Given the description of an element on the screen output the (x, y) to click on. 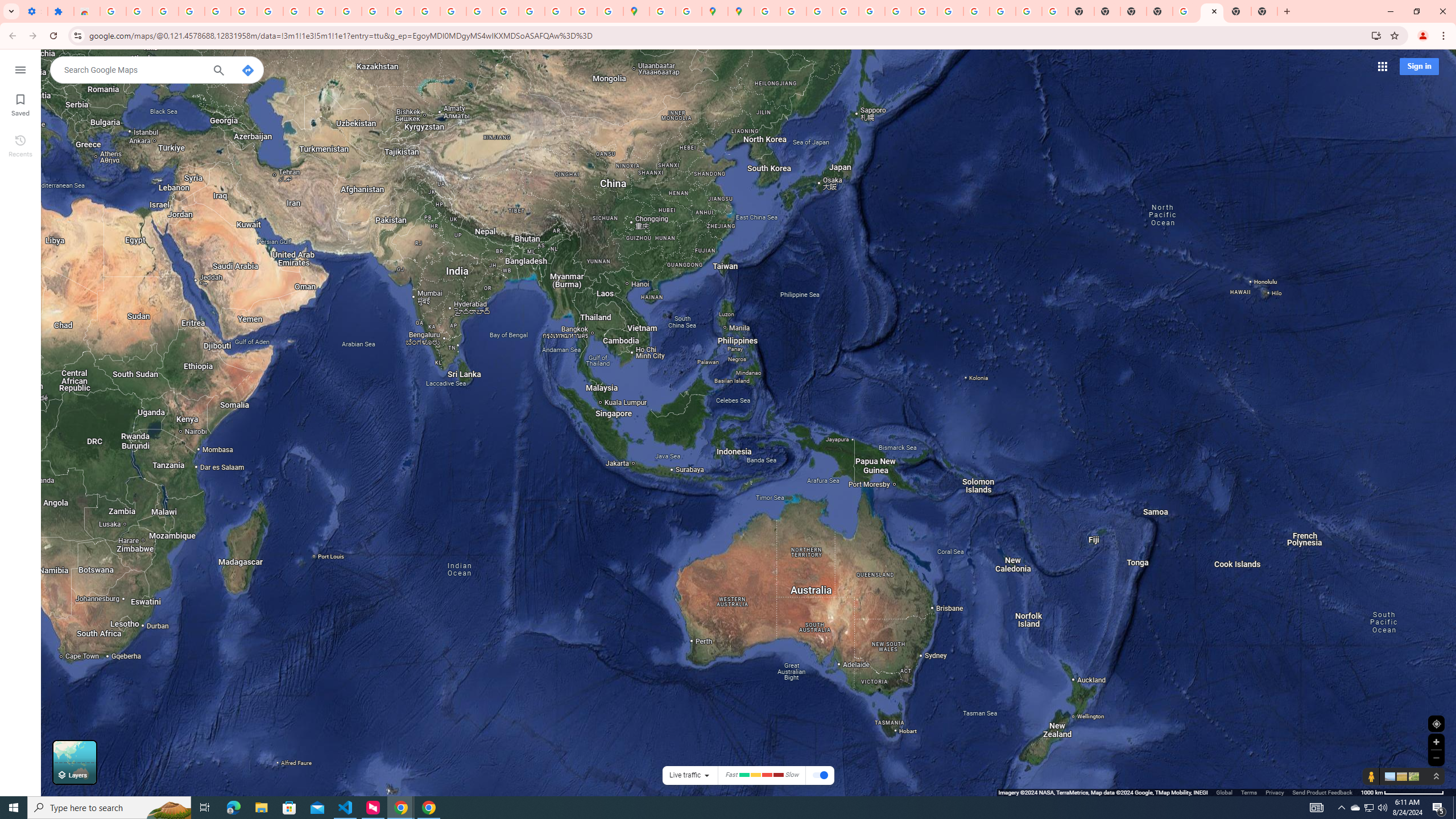
Menu (20, 68)
Privacy Help Center - Policies Help (818, 11)
Use Google Maps in Space - Google Maps Help (1185, 11)
Search Google Maps (133, 69)
Zoom out (1436, 757)
 Show traffic  (820, 775)
